Given the description of an element on the screen output the (x, y) to click on. 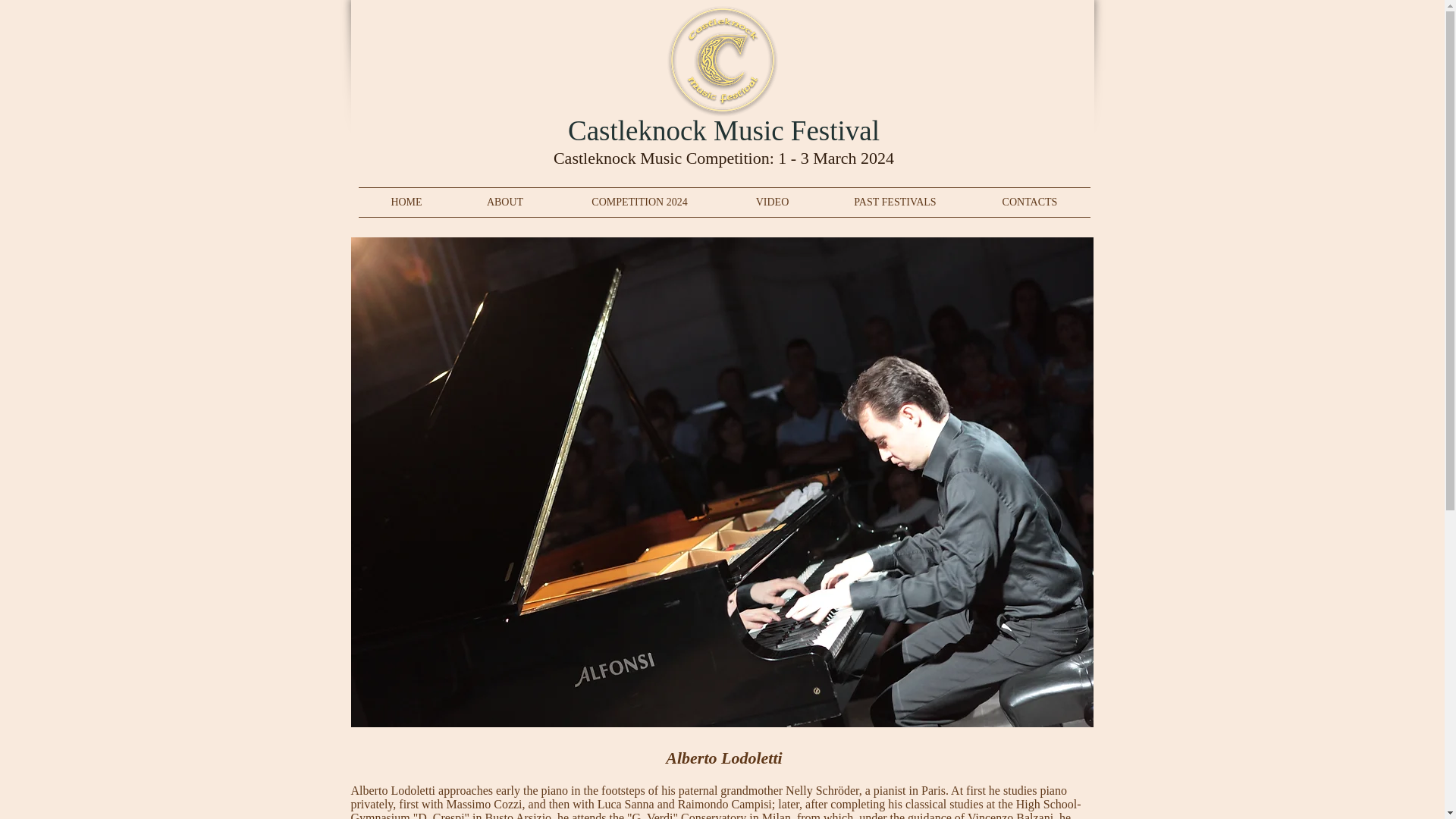
COMPETITION 2024 (638, 202)
HOME (406, 202)
VIDEO (772, 202)
ABOUT (505, 202)
tival (854, 130)
Castleknock Music Fes (698, 130)
CONTACTS (1029, 202)
PAST FESTIVALS (895, 202)
